Given the description of an element on the screen output the (x, y) to click on. 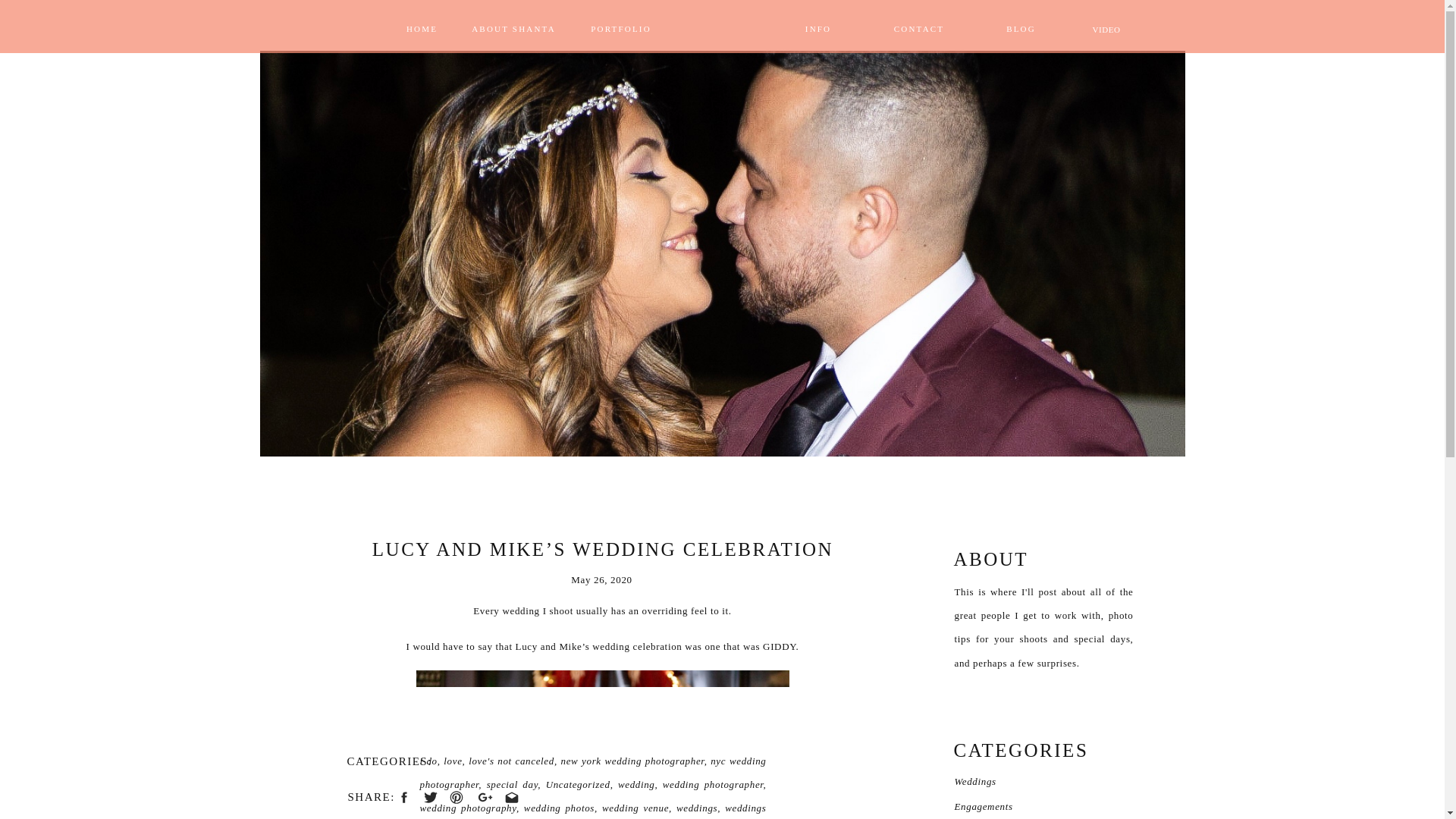
special day (512, 784)
VIDEO (1105, 26)
BLOG (1021, 24)
CONTACT (919, 24)
ABOUT SHANTA (513, 24)
love (452, 760)
weddings (697, 808)
HOME (422, 24)
INFO (817, 24)
wedding (636, 784)
